Given the description of an element on the screen output the (x, y) to click on. 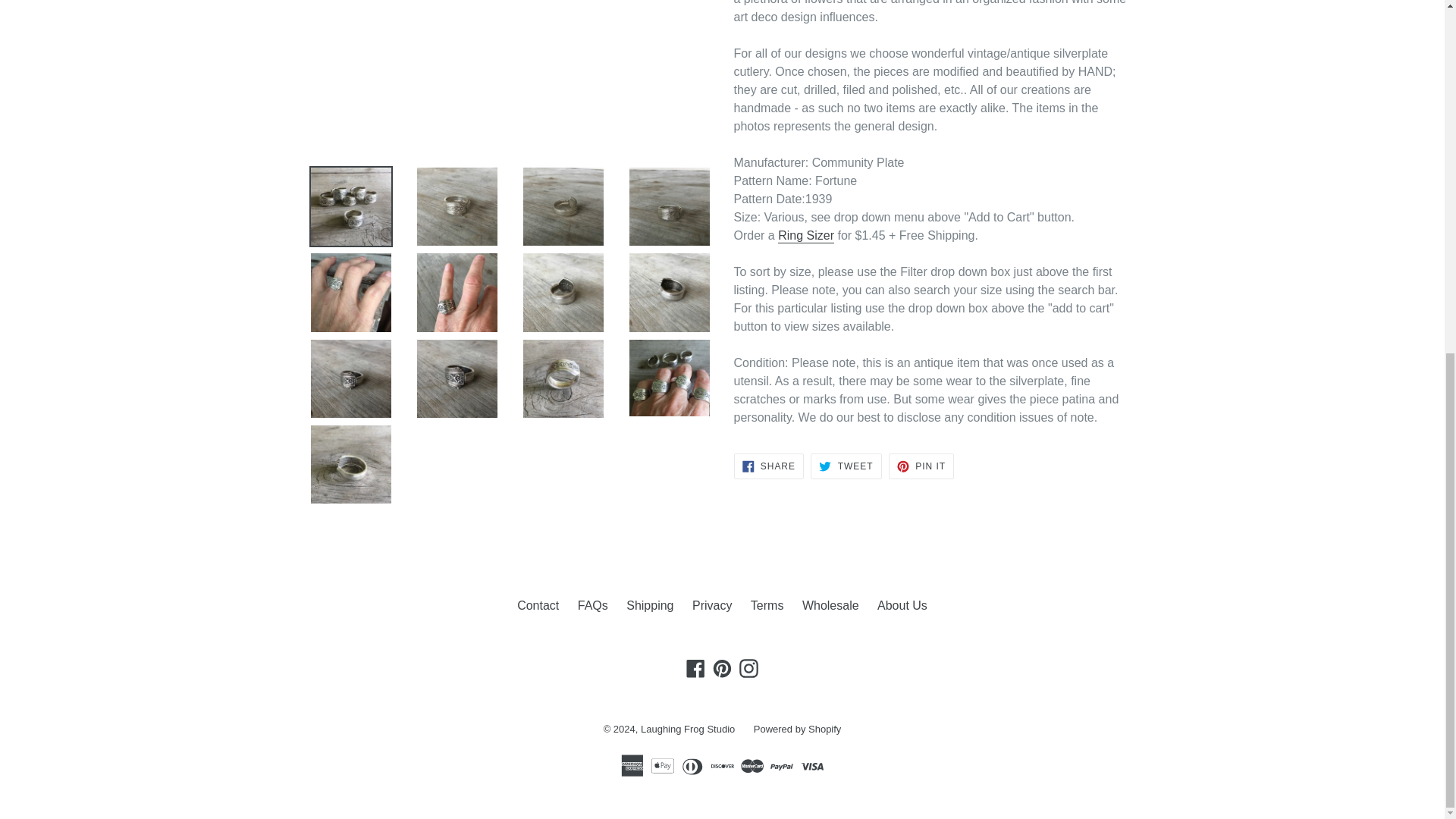
Laughing Frog Studio on Pinterest (721, 668)
Laughing Frog Studio on Facebook (695, 668)
Tweet on Twitter (845, 466)
Pin on Pinterest (920, 466)
Share on Facebook (768, 466)
Laughing Frog Studio on Instagram (748, 668)
